Given the description of an element on the screen output the (x, y) to click on. 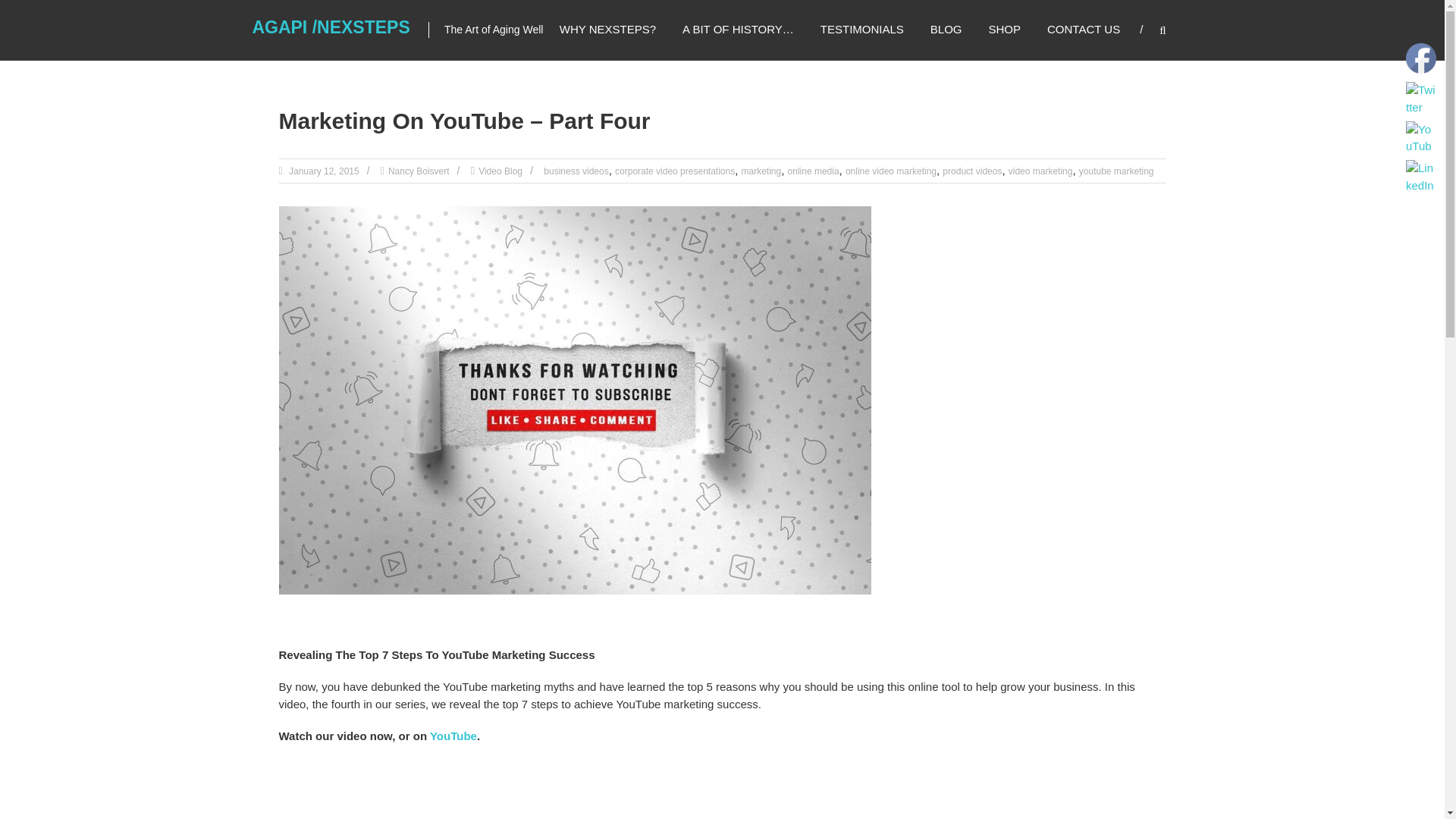
Video Blog (500, 171)
marketing (761, 171)
Twitter (1420, 98)
TESTIMONIALS (862, 29)
business videos (575, 171)
Nancy Boisvert (418, 171)
CONTACT US (1082, 29)
Facebook (1420, 58)
online video marketing (890, 171)
corporate video presentations (674, 171)
9:48 am (322, 171)
product videos (971, 171)
BLOG (946, 29)
SHOP (1005, 29)
video marketing (1041, 171)
